Given the description of an element on the screen output the (x, y) to click on. 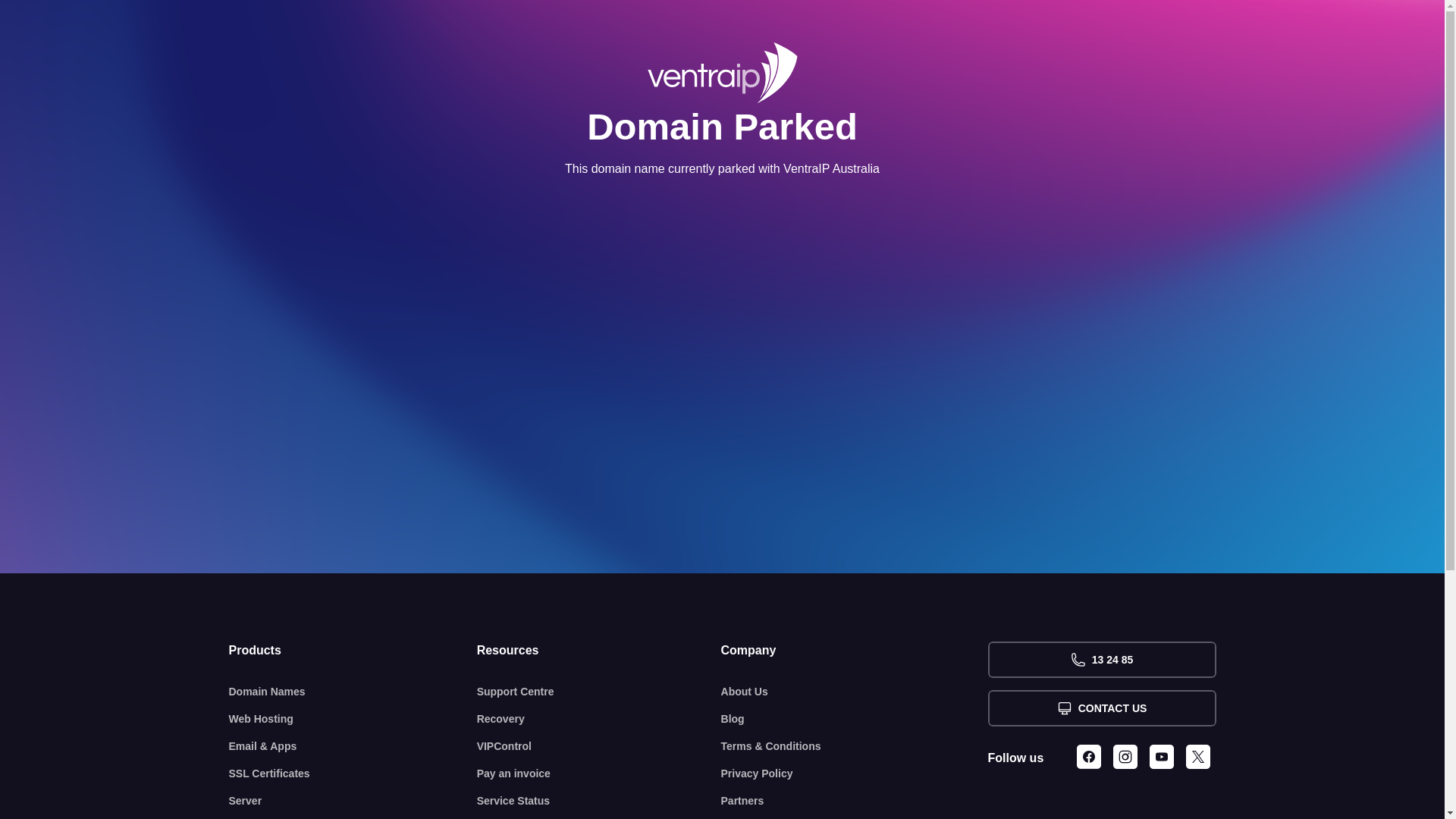
Recovery Element type: text (598, 718)
Support Centre Element type: text (598, 691)
Terms & Conditions Element type: text (854, 745)
Email & Apps Element type: text (352, 745)
Partners Element type: text (854, 800)
Blog Element type: text (854, 718)
About Us Element type: text (854, 691)
SSL Certificates Element type: text (352, 773)
Privacy Policy Element type: text (854, 773)
VIPControl Element type: text (598, 745)
Server Element type: text (352, 800)
Web Hosting Element type: text (352, 718)
Pay an invoice Element type: text (598, 773)
CONTACT US Element type: text (1101, 708)
Service Status Element type: text (598, 800)
Domain Names Element type: text (352, 691)
13 24 85 Element type: text (1101, 659)
